Given the description of an element on the screen output the (x, y) to click on. 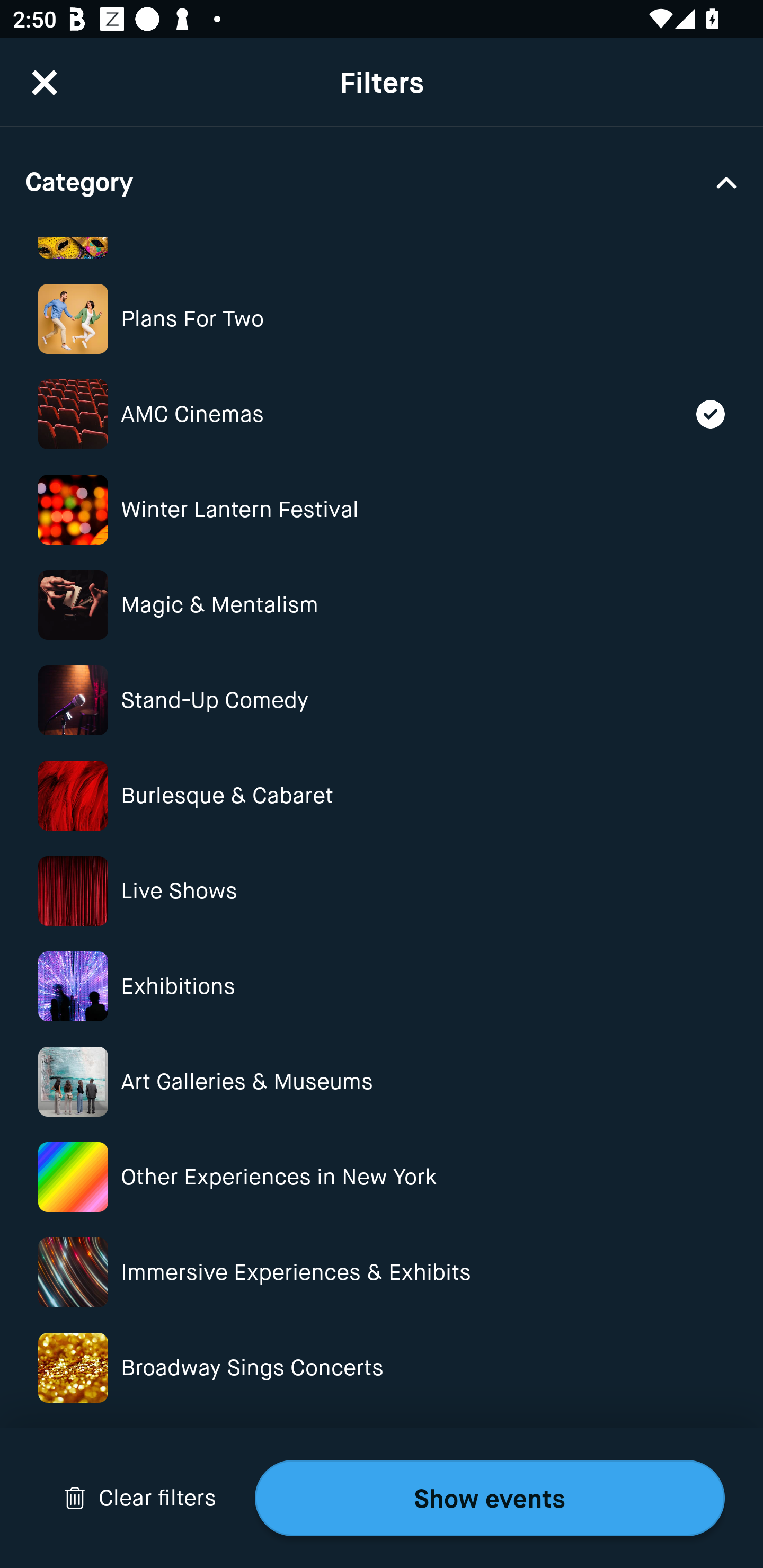
Category Drop Down Arrow (381, 181)
Category Image Plans For Two (381, 318)
Category Image AMC Cinemas Selected Icon (381, 414)
Category Image Winter Lantern Festival (381, 509)
Category Image Magic & Mentalism (381, 604)
Category Image Stand-Up Comedy (381, 699)
Category Image Burlesque & Cabaret (381, 795)
Category Image Live Shows (381, 890)
Category Image Exhibitions (381, 985)
Category Image Art Galleries & Museums (381, 1081)
Category Image Other Experiences in New York (381, 1176)
Category Image Immersive Experiences & Exhibits (381, 1272)
Category Image Broadway Sings Concerts (381, 1367)
Drop Down Arrow Clear filters (139, 1497)
Show events (489, 1497)
